Given the description of an element on the screen output the (x, y) to click on. 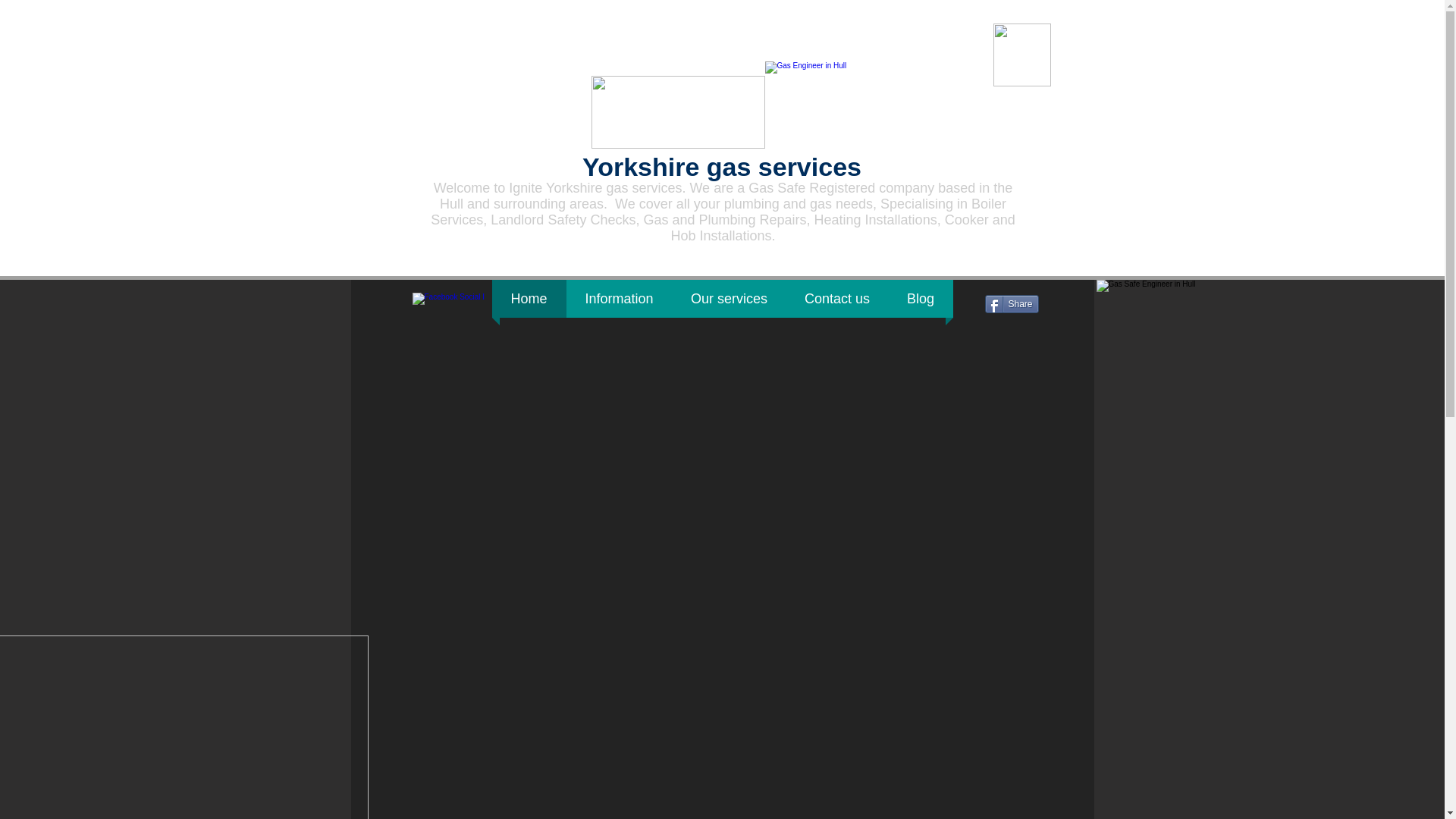
LogoColorTextRight high lity.png 2015-8-10-22:42:4 (810, 104)
Home (529, 298)
Our services (728, 298)
Information (618, 298)
Share (1011, 303)
Blog (920, 298)
Share (1011, 303)
Contact us (837, 298)
